Given the description of an element on the screen output the (x, y) to click on. 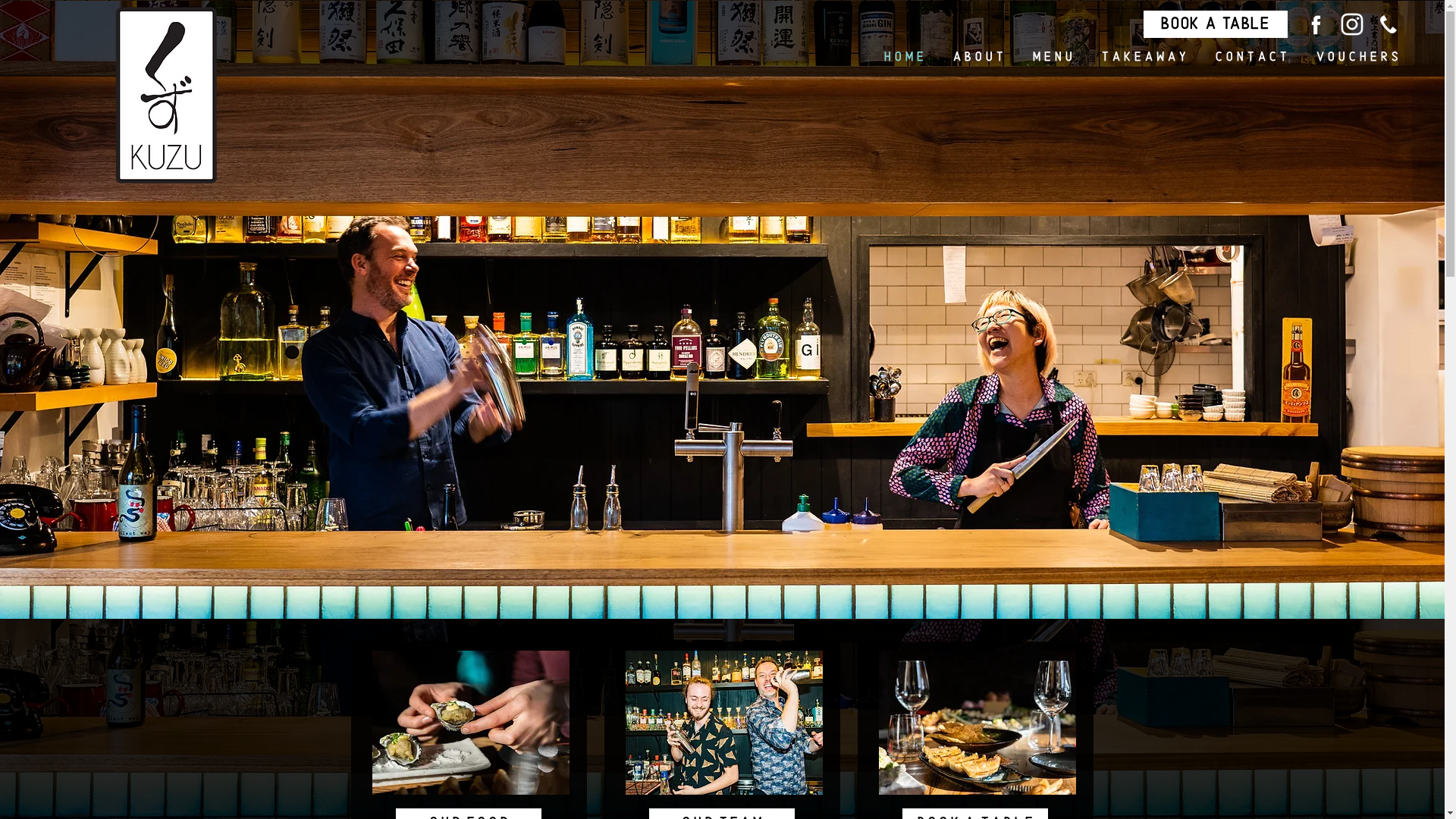
V O U C H E R S Element type: text (1353, 57)
BOOK A TABLE Element type: text (1215, 23)
T A K E A W A Y Element type: text (1140, 57)
C O N T A C T Element type: text (1247, 57)
H O M E Element type: text (900, 57)
A B O U T Element type: text (974, 57)
